Given the description of an element on the screen output the (x, y) to click on. 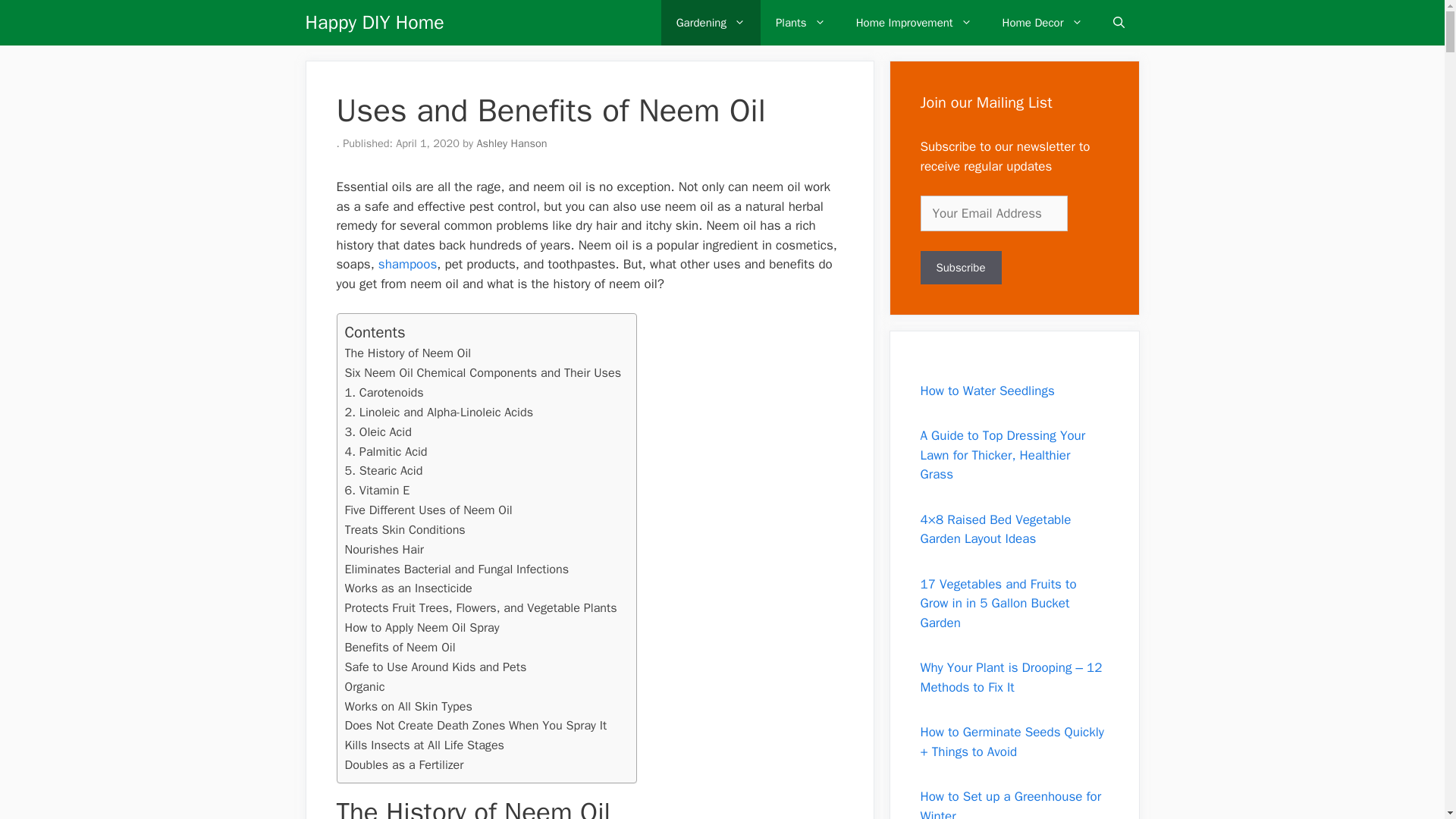
6. Vitamin E (376, 490)
2. Linoleic and Alpha-Linoleic Acids (437, 412)
3. Oleic Acid (376, 432)
Eliminates Bacterial and Fungal Infections (456, 569)
View all posts by Ashley Hanson (511, 142)
Five Different Uses of Neem Oil (427, 510)
Six Neem Oil Chemical Components and Their Uses (482, 373)
Benefits of Neem Oil (398, 647)
